Given the description of an element on the screen output the (x, y) to click on. 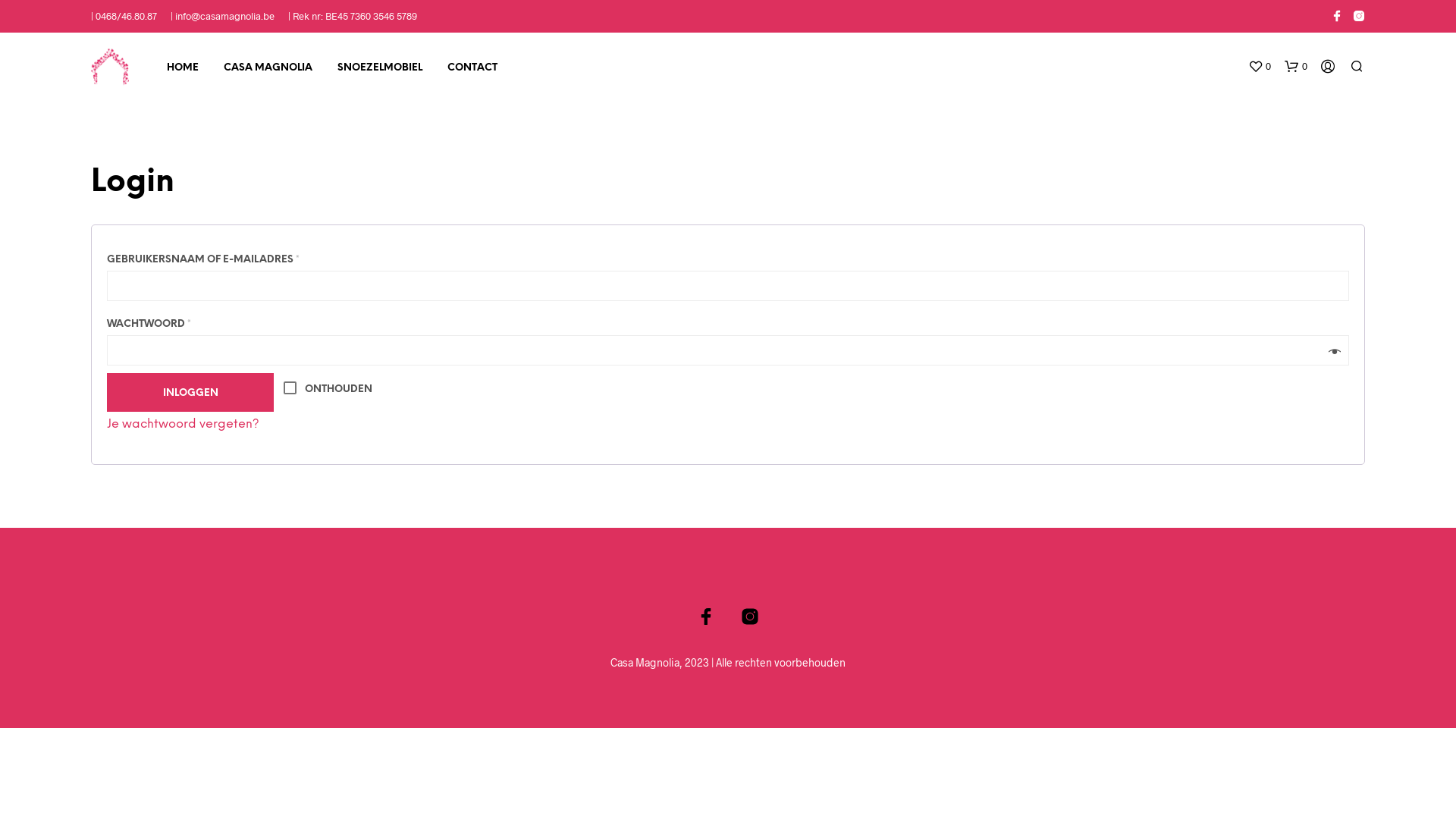
CONTACT Element type: text (472, 67)
CASA MAGNOLIA Element type: text (267, 67)
SNOEZELMOBIEL Element type: text (379, 67)
0 Element type: text (1259, 66)
Je wachtwoord vergeten? Element type: text (182, 423)
HOME Element type: text (182, 67)
INLOGGEN Element type: text (189, 392)
0 Element type: text (1295, 66)
